Given the description of an element on the screen output the (x, y) to click on. 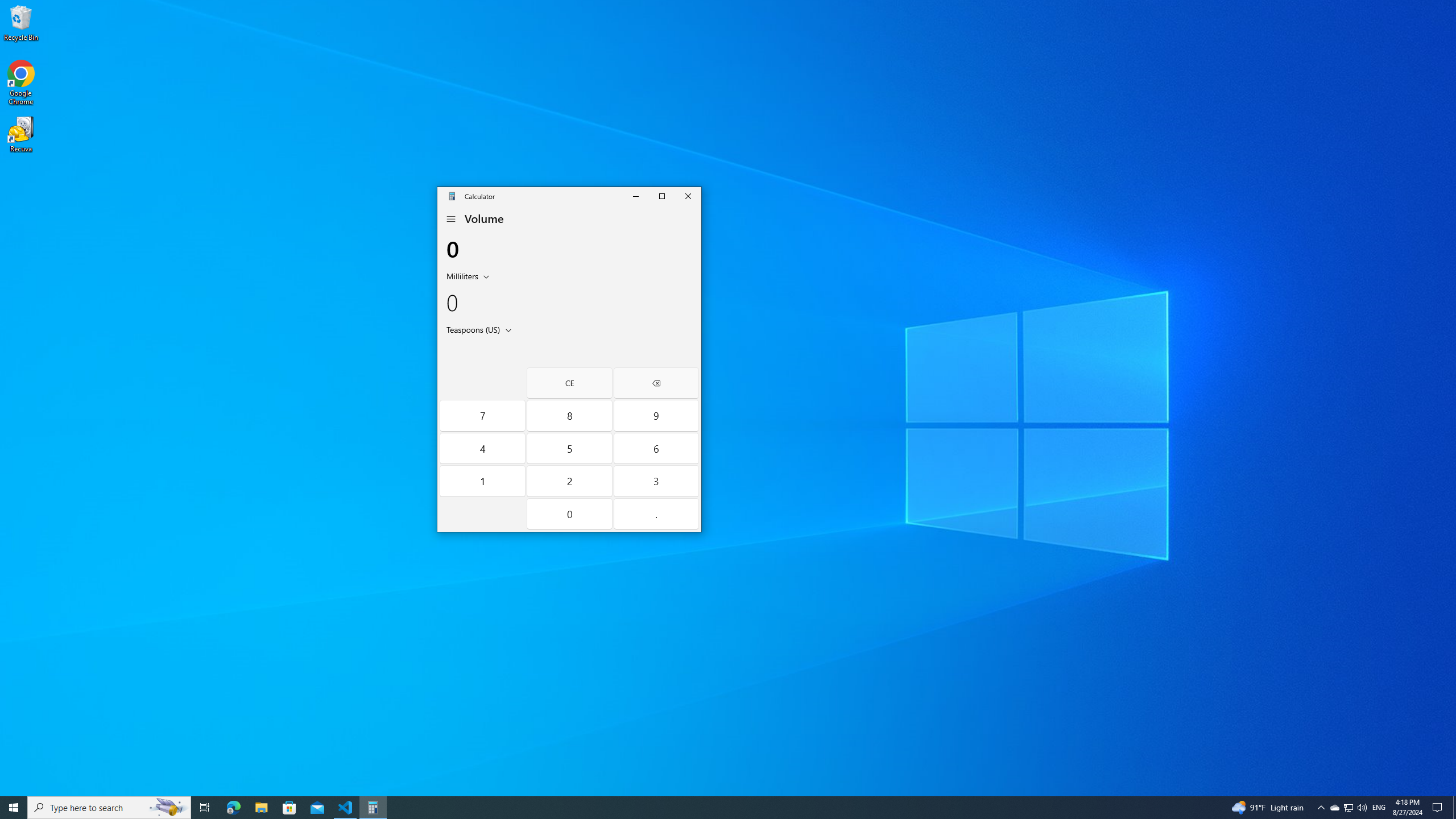
Clear entry (569, 382)
Three (655, 481)
Output unit (481, 329)
Maximize Calculator (662, 195)
Zero (569, 513)
Eight (569, 415)
Teaspoons (US) (472, 329)
Two (569, 481)
Seven (482, 415)
